Given the description of an element on the screen output the (x, y) to click on. 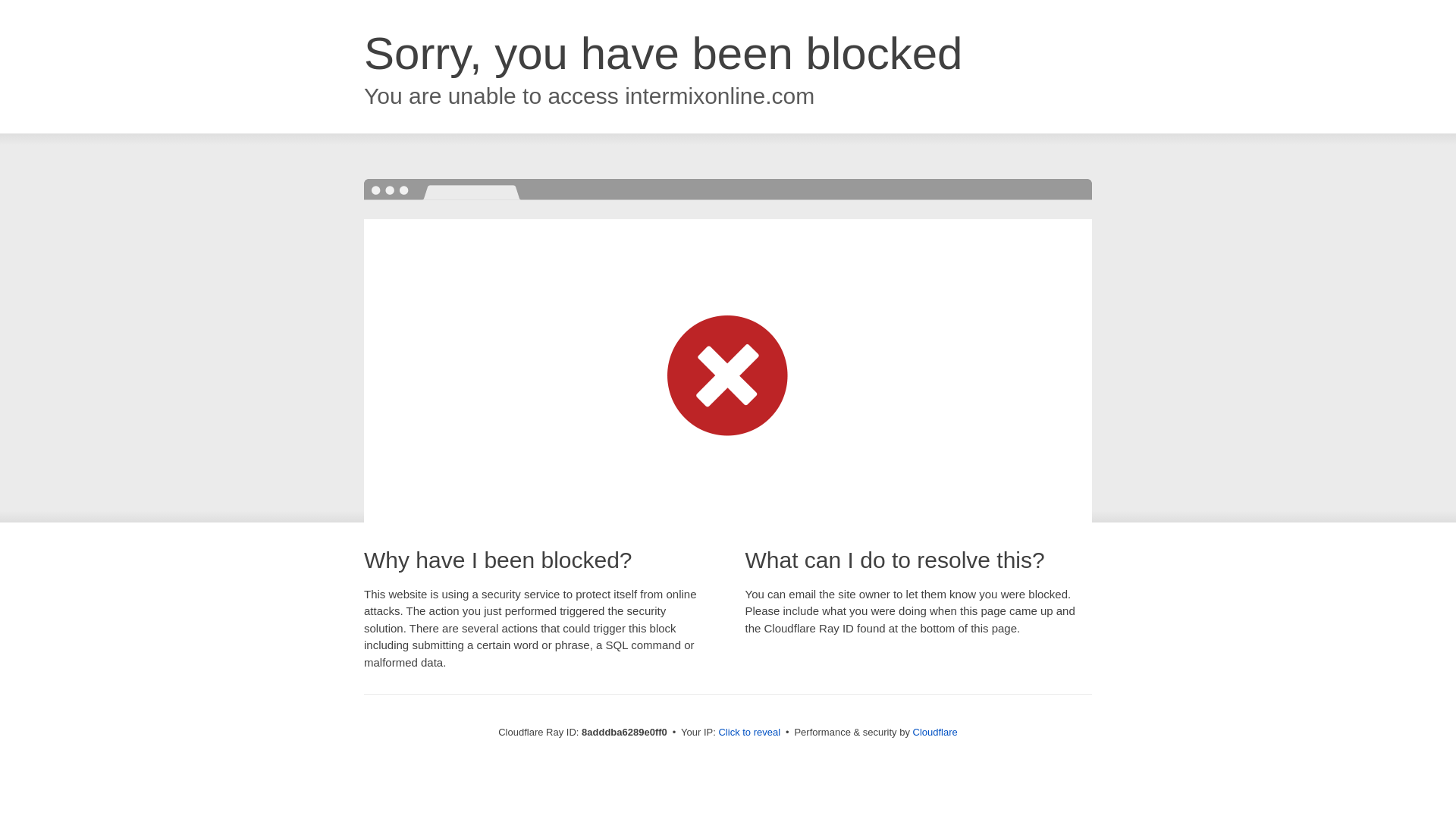
Click to reveal (748, 732)
Cloudflare (935, 731)
